Given the description of an element on the screen output the (x, y) to click on. 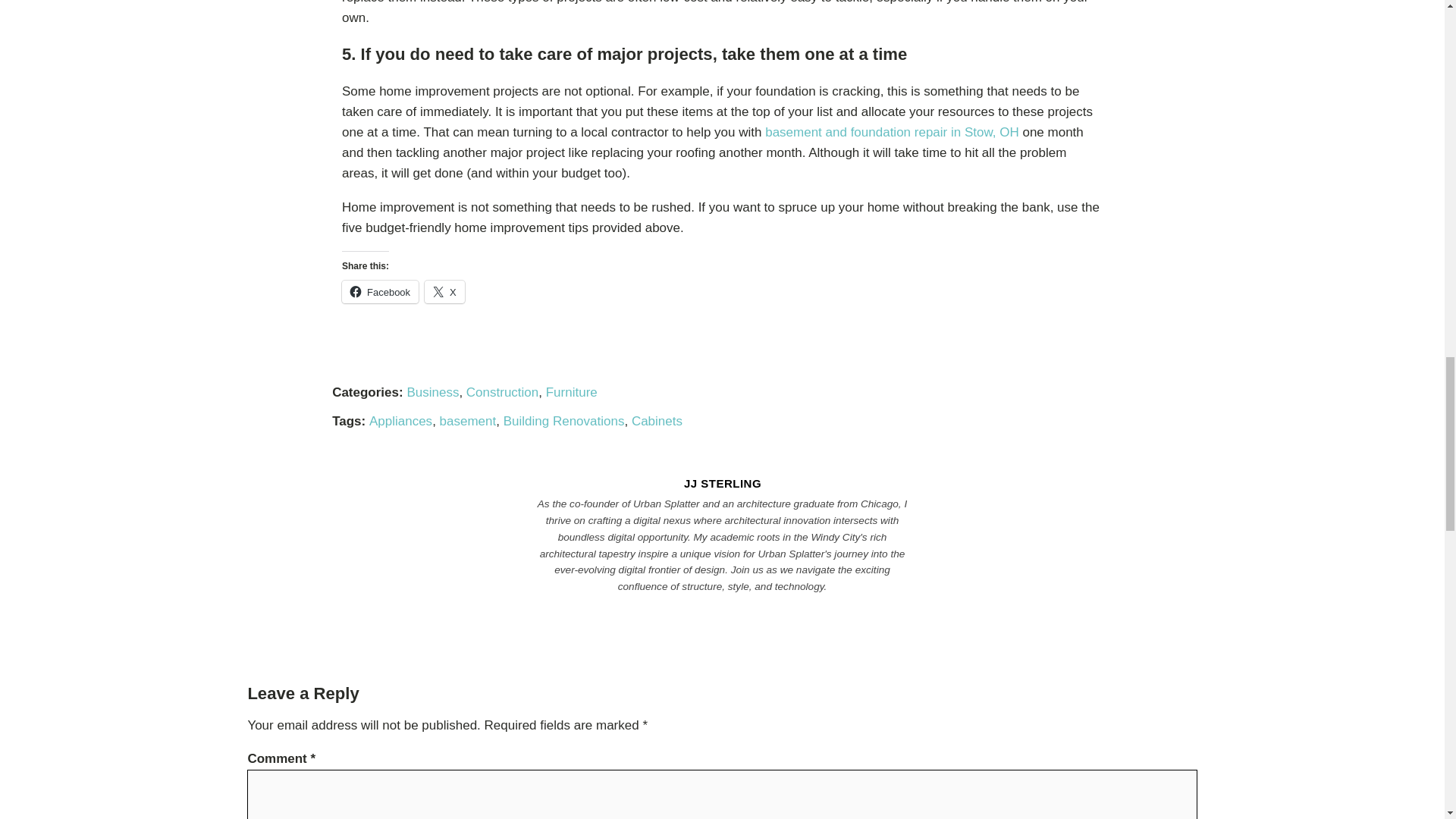
Click to share on X (444, 291)
Click to share on Facebook (380, 291)
